Given the description of an element on the screen output the (x, y) to click on. 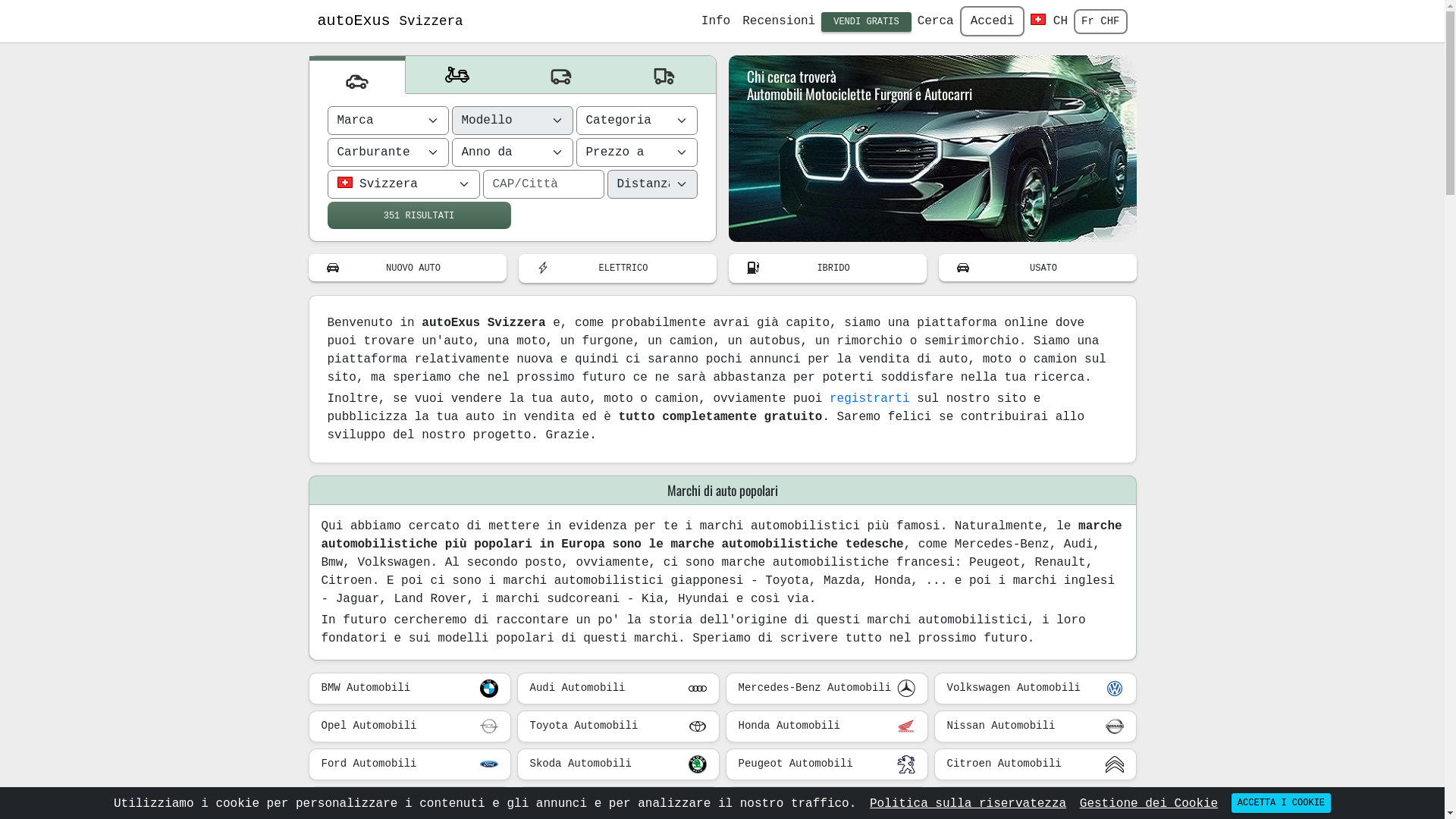
Mercedes-Benz Automobili Element type: text (825, 688)
Volvo Automobili Element type: text (1035, 802)
Cerca Element type: text (935, 21)
Renault Automobili Element type: text (408, 802)
BMW Automobili Element type: text (408, 688)
Fr CHF Element type: text (1099, 21)
Citroen Automobili Element type: text (1035, 764)
Ford Automobili Element type: text (408, 764)
Info Element type: text (715, 21)
Audi Automobili Element type: text (618, 688)
CH Element type: text (1048, 21)
Gestione dei Cookie Element type: text (1148, 803)
Nissan Automobili Element type: text (1035, 726)
Skoda Automobili Element type: text (618, 764)
Honda Automobili Element type: text (825, 726)
351 RISULTATI Element type: text (419, 215)
Volkswagen Automobili Element type: text (1035, 688)
ELETTRICO Element type: text (617, 268)
Accedi Element type: text (992, 21)
VENDI GRATIS Element type: text (865, 21)
Peugeot Automobili Element type: text (825, 764)
Opel Automobili Element type: text (408, 726)
Politica sulla riservatezza Element type: text (967, 803)
IBRIDO Element type: text (826, 268)
Hyundai Automobili Element type: text (618, 802)
Kia Automobili Element type: text (825, 802)
USATO Element type: text (1037, 267)
NUOVO AUTO Element type: text (406, 267)
ACCETTA I COOKIE Element type: text (1280, 802)
Toyota Automobili Element type: text (618, 726)
Recensioni Element type: text (778, 21)
Svizzera Element type: text (403, 183)
registrarti Element type: text (869, 398)
autoExus Svizzera Element type: text (389, 21)
